Given the description of an element on the screen output the (x, y) to click on. 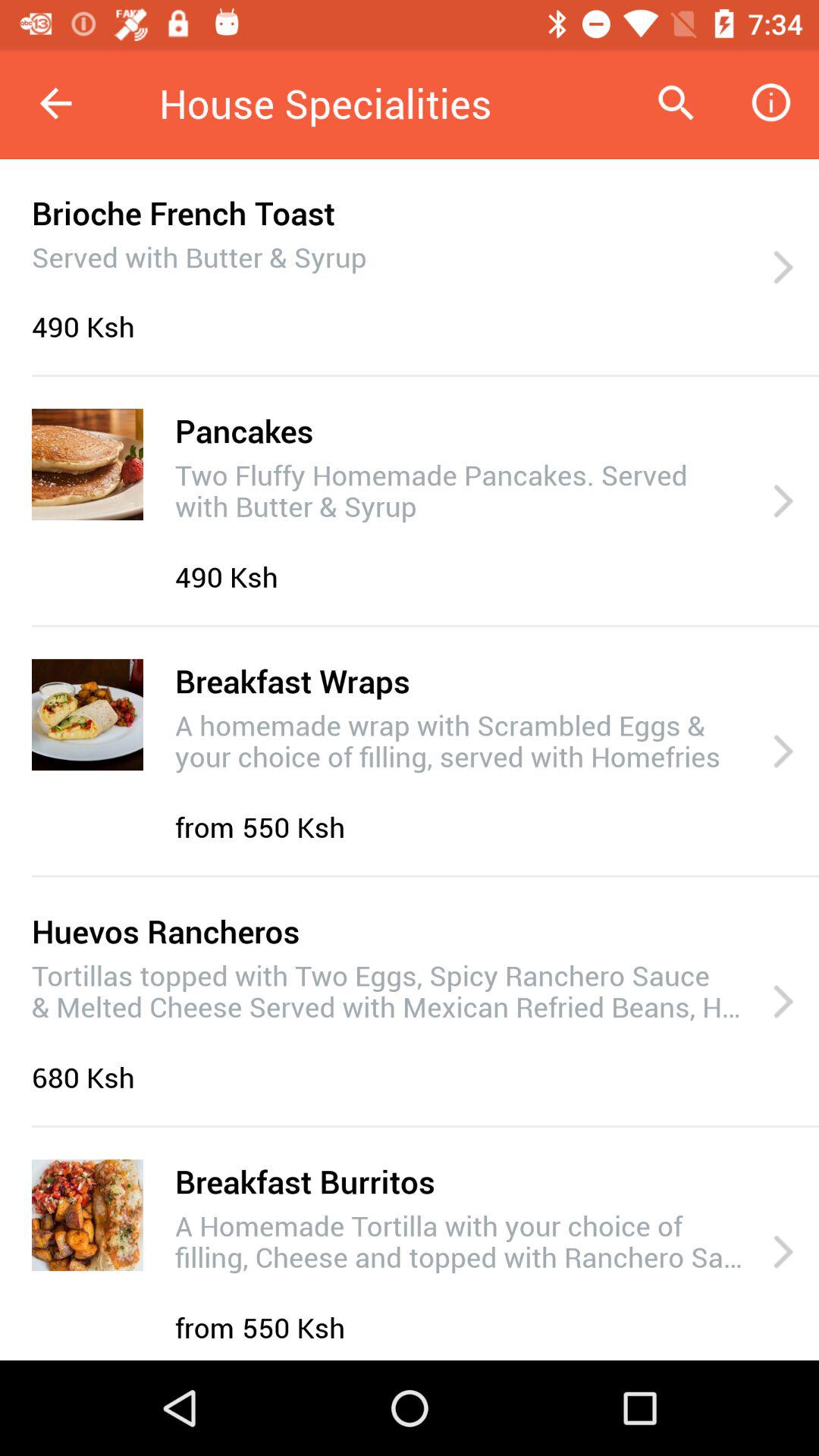
turn off the item above a homemade tortilla item (305, 1180)
